Given the description of an element on the screen output the (x, y) to click on. 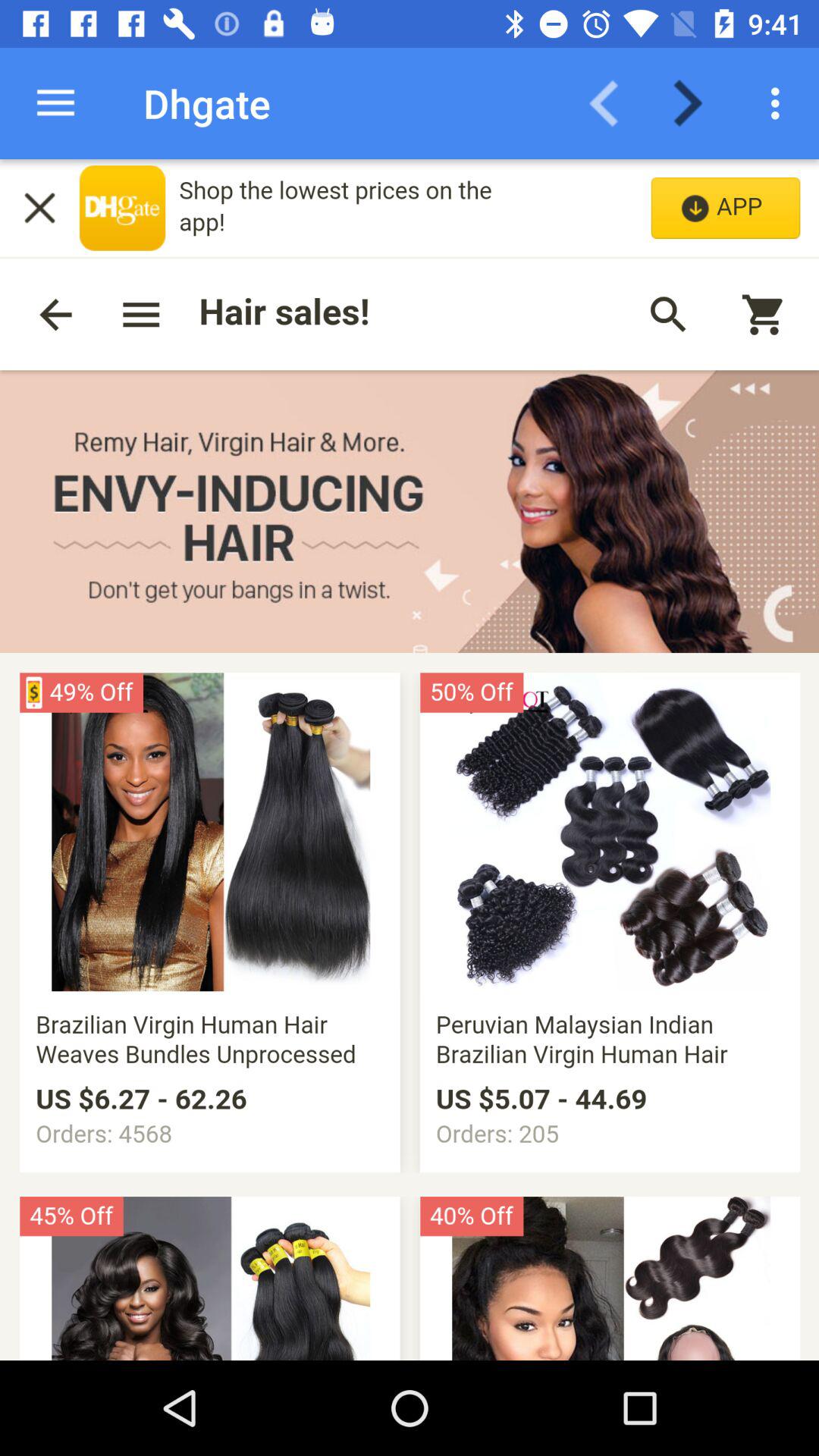
back (613, 103)
